Given the description of an element on the screen output the (x, y) to click on. 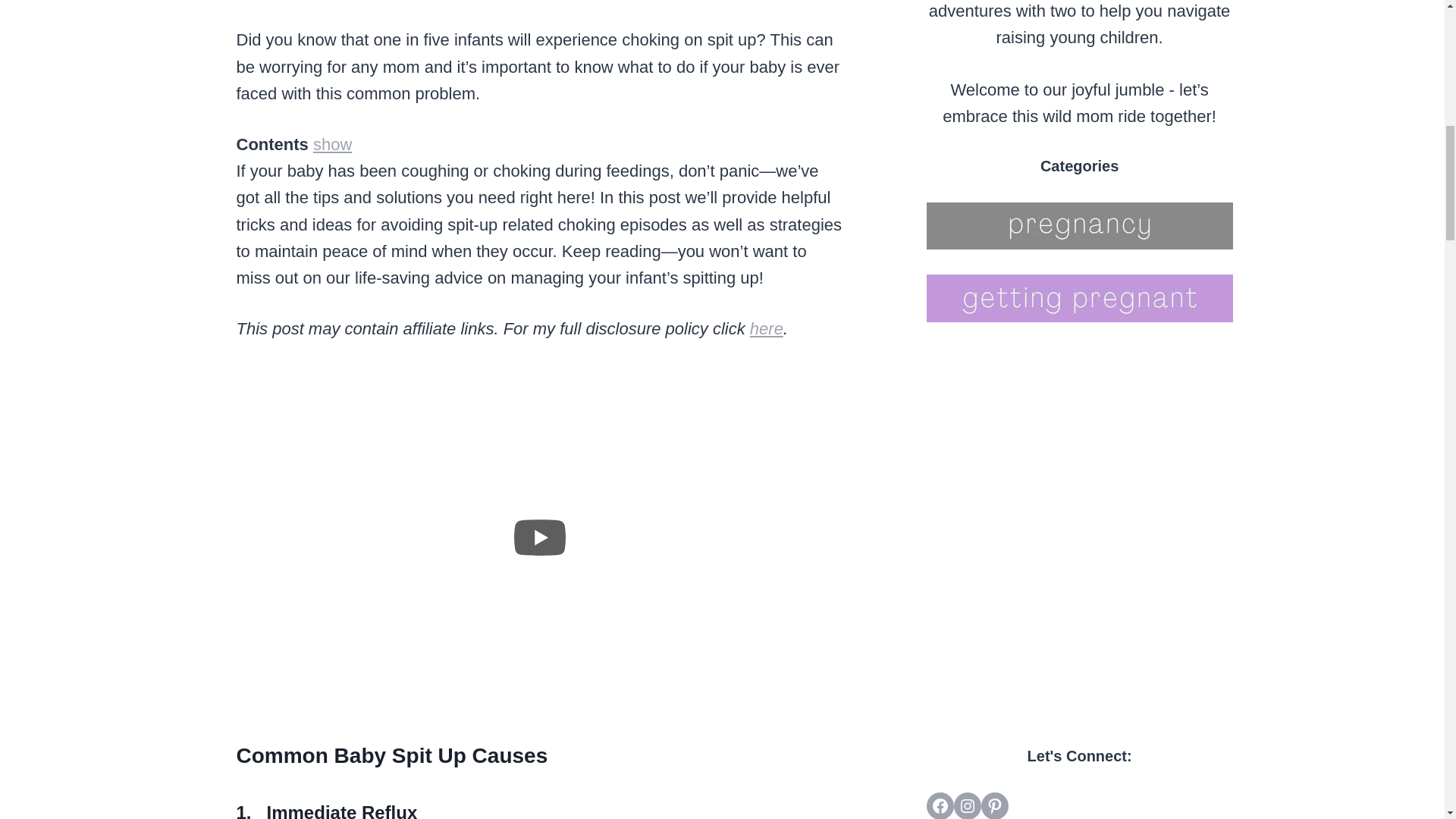
show (332, 144)
